Given the description of an element on the screen output the (x, y) to click on. 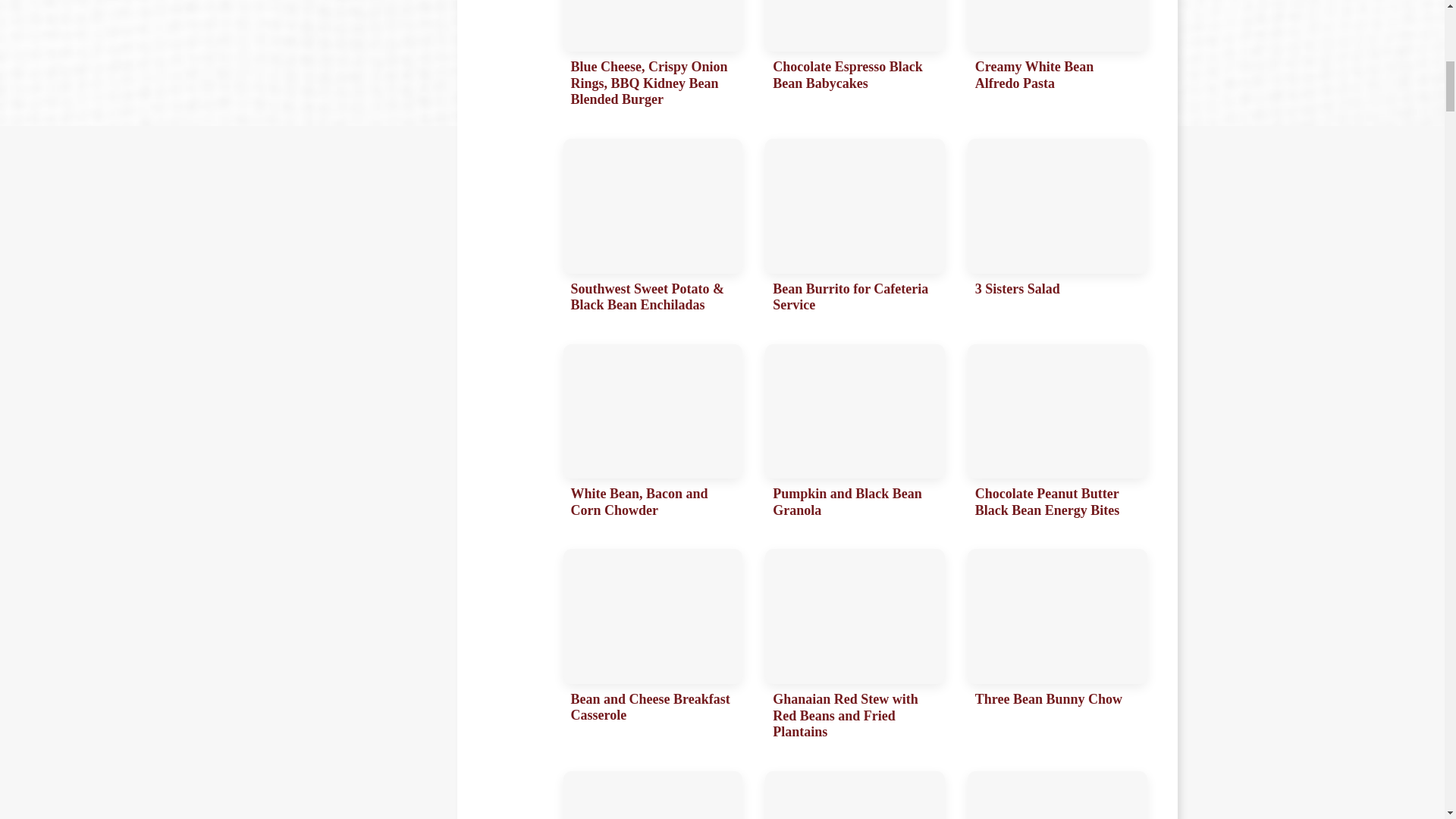
Bean and Cheese Breakfast Casserole (652, 647)
Bean Burrito for Cafeteria Service (854, 229)
Pumpkin and Black Bean Granola (854, 435)
Ghanaian Red Stew with Red Beans and Fried Plantains (854, 647)
3 Sisters Salad (1057, 229)
Three Bean Bunny Chow (1057, 647)
Chocolate Peanut Butter Black Bean Energy Bites (1057, 435)
